Given the description of an element on the screen output the (x, y) to click on. 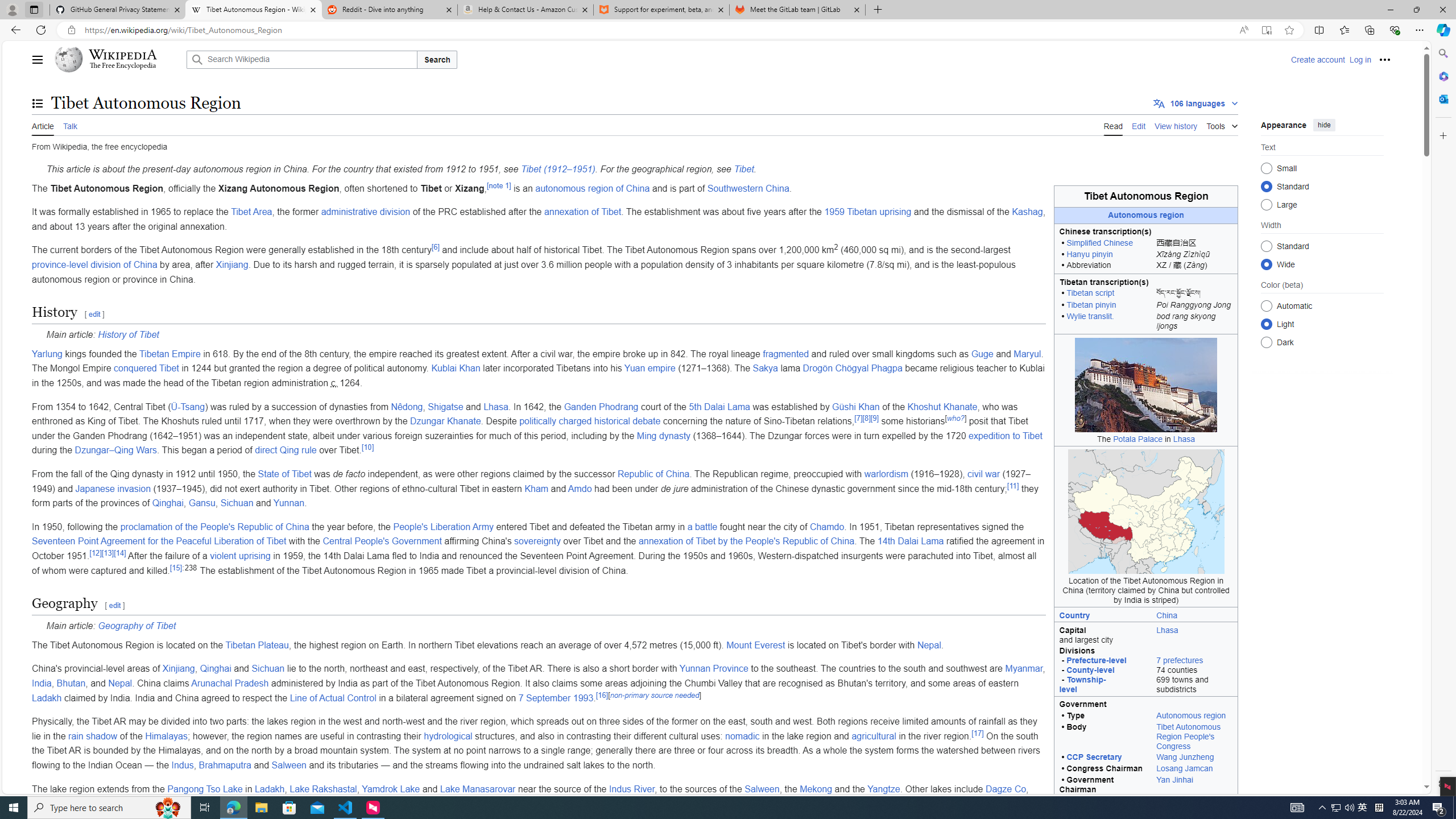
Arunachal Pradesh (229, 683)
Wylie translit. (1089, 316)
Khoshut Khanate (941, 406)
Potala Palace (1137, 438)
Tibet Autonomous Region - Wikipedia (253, 9)
Tibet Autonomous Region People's Congress (1194, 736)
Wang Junzheng (1194, 758)
Hanyu pinyin (1088, 253)
expedition to Tibet (1005, 435)
Light (1266, 323)
Brahmaputra (224, 764)
